Given the description of an element on the screen output the (x, y) to click on. 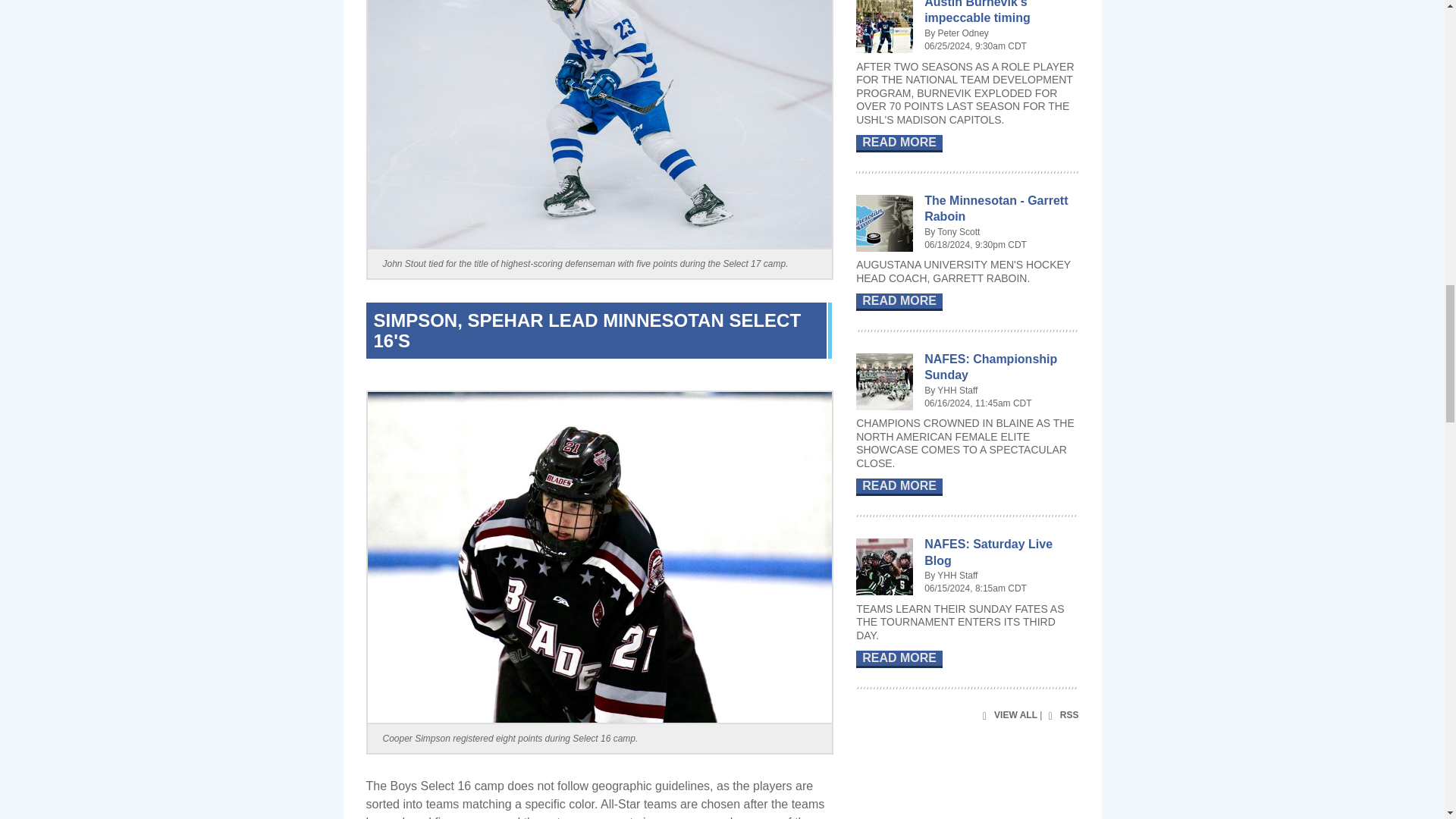
View All (1007, 715)
3rd party ad content (969, 791)
Austin Burnevik's impeccable timing (977, 12)
Subscribe to RSS Feed (1061, 715)
